Given the description of an element on the screen output the (x, y) to click on. 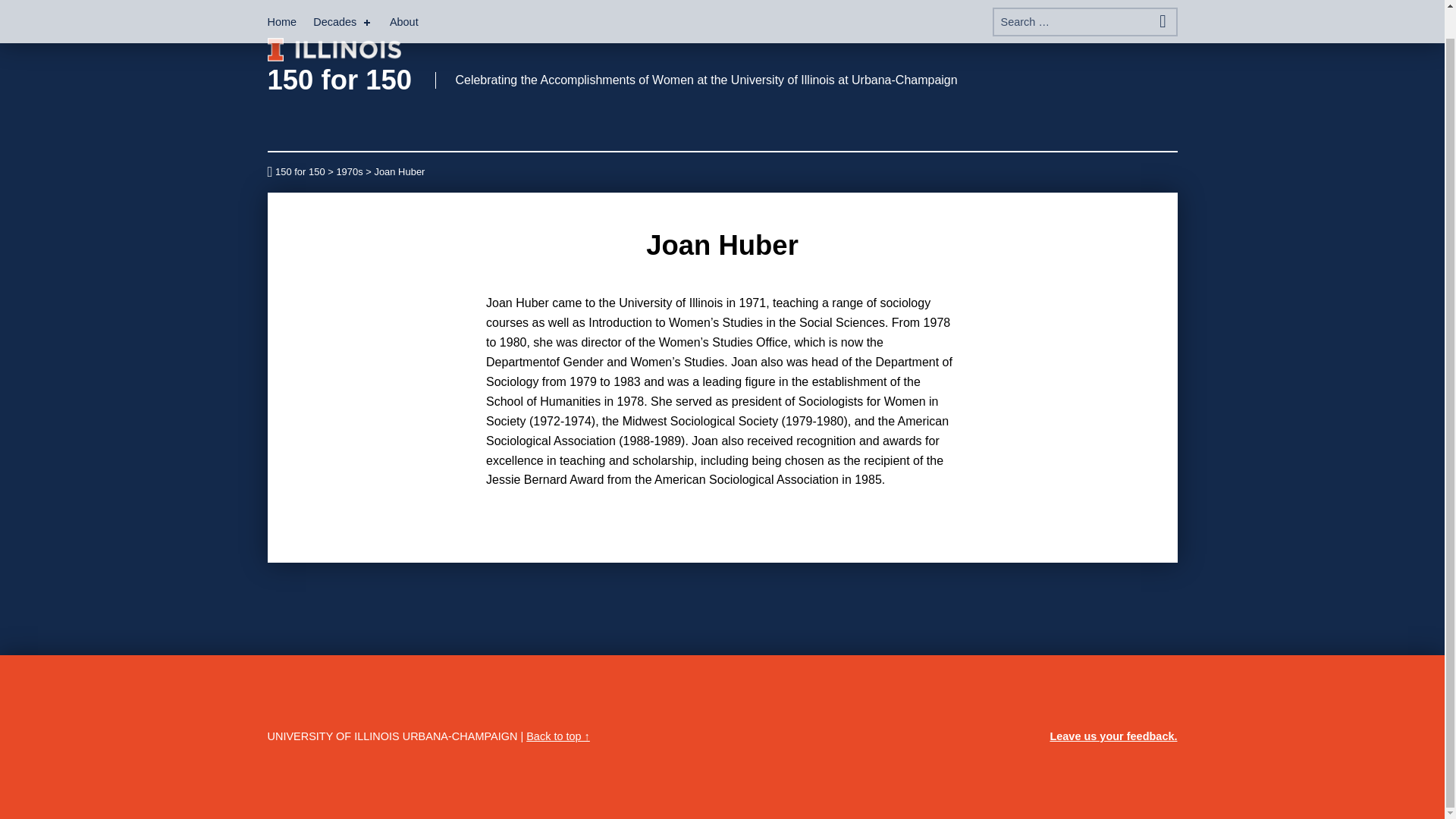
1970s (349, 171)
Go to 1970s. (349, 171)
About (404, 4)
Search (1162, 3)
Home (281, 4)
150 for 150 (339, 79)
Search (1162, 3)
Search (1162, 3)
Leave us your feedback. (1112, 736)
